Given the description of an element on the screen output the (x, y) to click on. 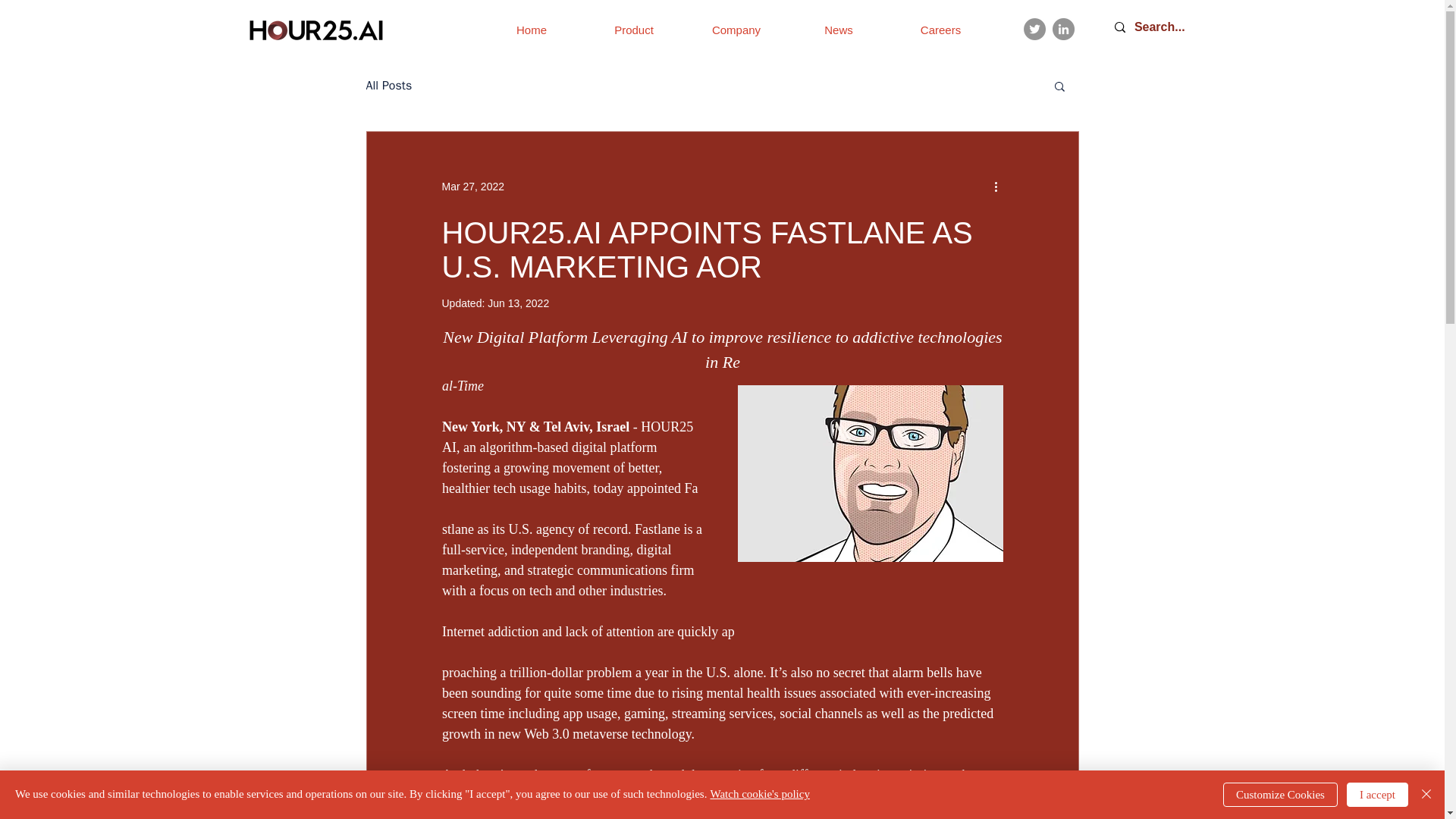
Product (633, 29)
Watch cookie's policy (759, 793)
Home (531, 29)
All Posts (388, 84)
Careers (941, 29)
News (838, 29)
Jun 13, 2022 (517, 303)
Mar 27, 2022 (472, 186)
